Given the description of an element on the screen output the (x, y) to click on. 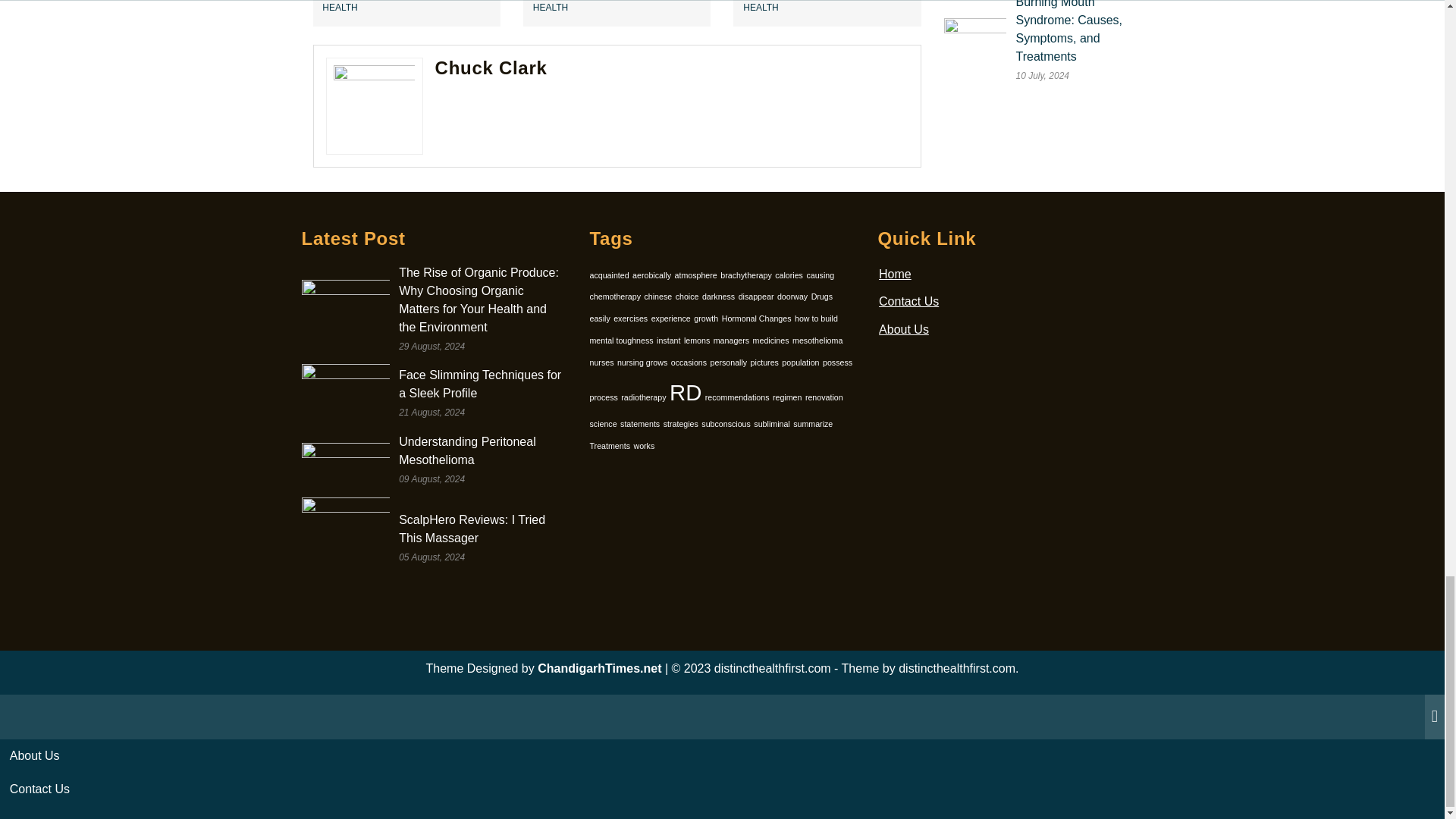
HEALTH (759, 7)
HEALTH (338, 7)
HEALTH (549, 7)
